Given the description of an element on the screen output the (x, y) to click on. 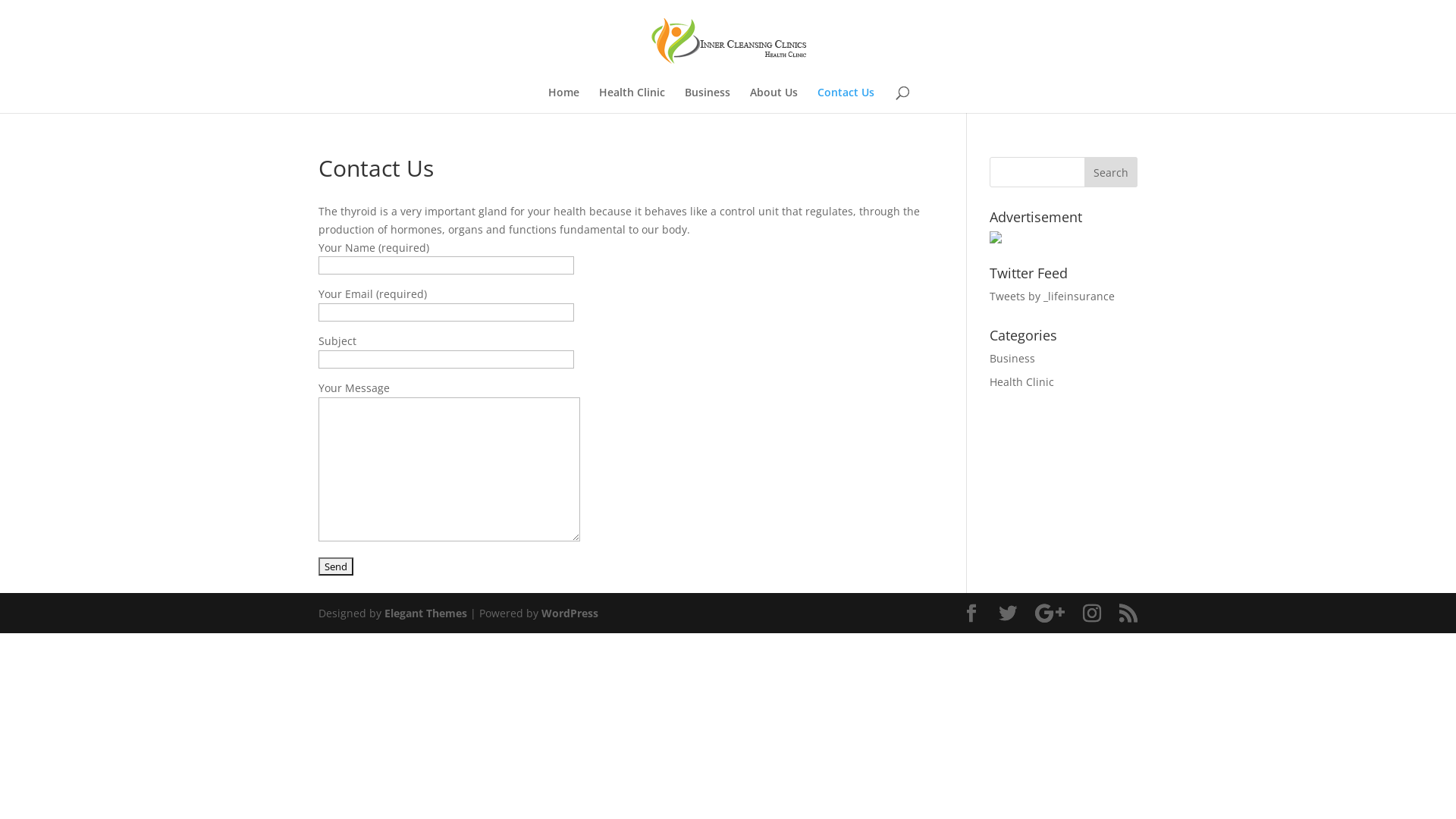
Business Element type: text (707, 99)
Elegant Themes Element type: text (425, 612)
Search Element type: text (1110, 171)
Home Element type: text (563, 99)
WordPress Element type: text (569, 612)
Contact Us Element type: text (845, 99)
About Us Element type: text (773, 99)
Send Element type: text (335, 566)
Business Element type: text (1012, 358)
Health Clinic Element type: text (632, 99)
Health Clinic Element type: text (1021, 381)
Tweets by _lifeinsurance Element type: text (1051, 295)
